Given the description of an element on the screen output the (x, y) to click on. 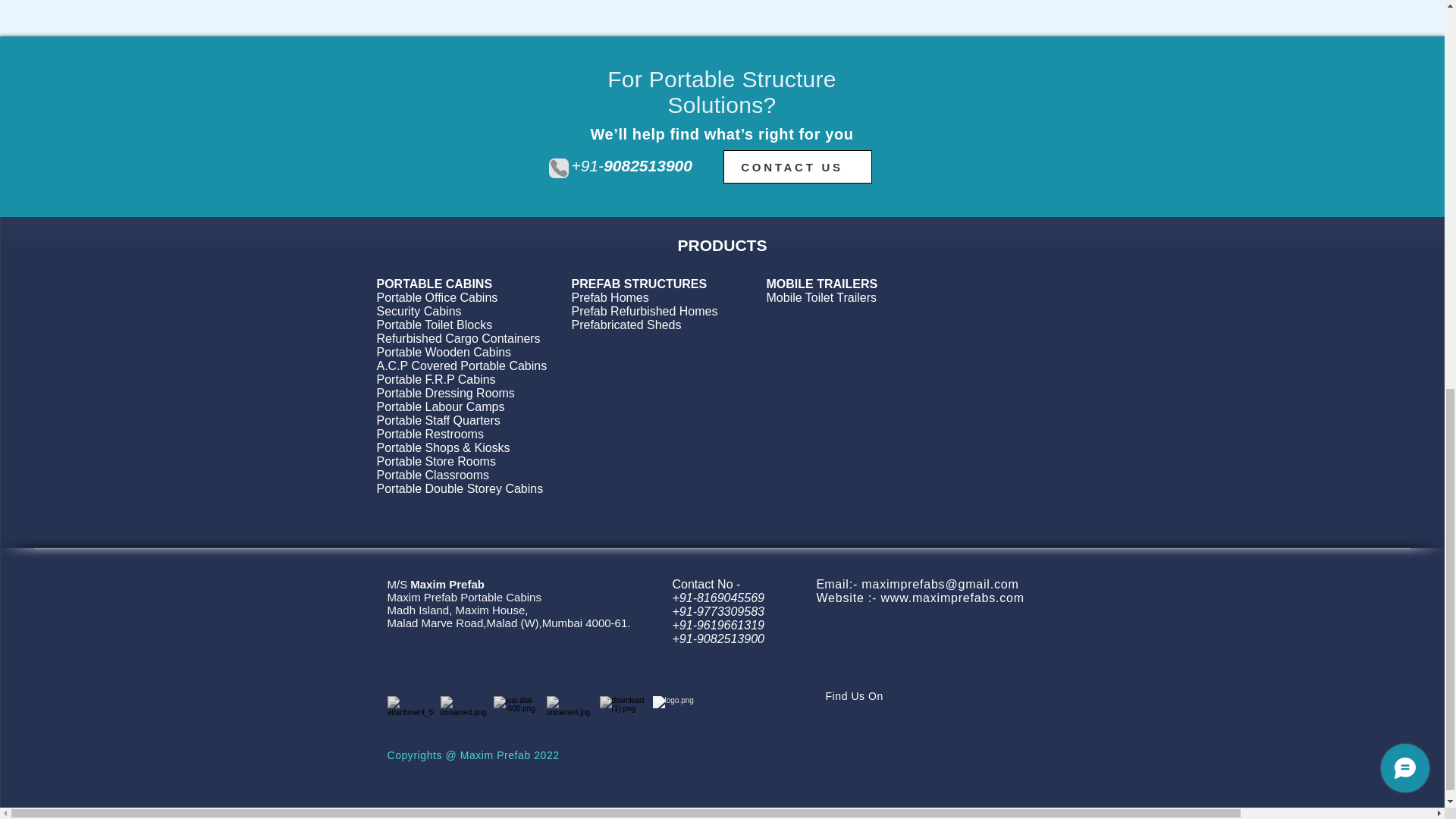
Wix Chat (1408, 22)
